Given the description of an element on the screen output the (x, y) to click on. 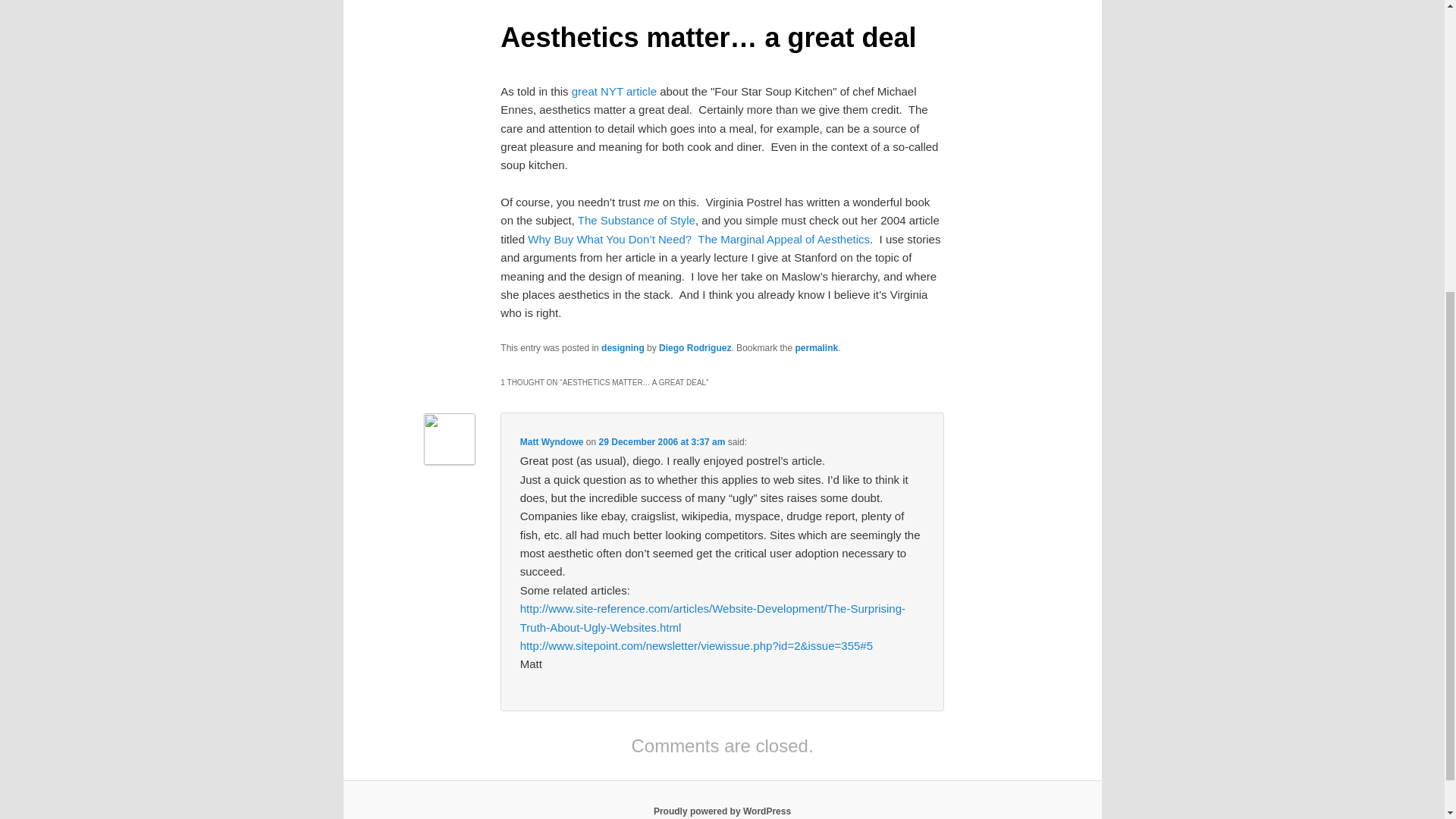
Semantic Personal Publishing Platform (721, 810)
29 December 2006 at 3:37 am (661, 441)
permalink (816, 347)
great NYT article (614, 91)
designing (623, 347)
Proudly powered by WordPress (721, 810)
Matt Wyndowe (551, 441)
The Substance of Style (636, 219)
Diego Rodriguez (694, 347)
